Given the description of an element on the screen output the (x, y) to click on. 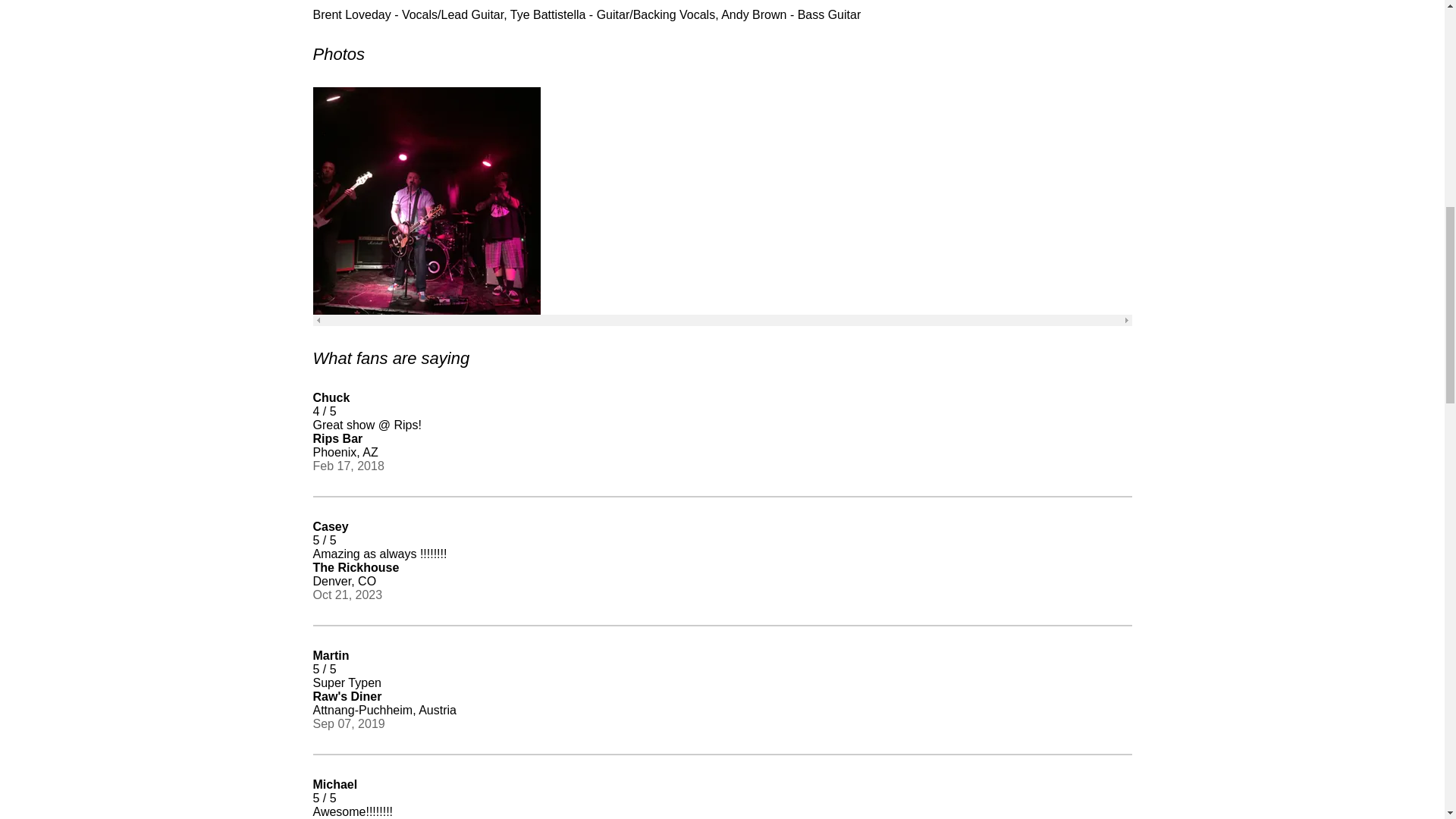
Raw's Diner (347, 696)
Phoenix, AZ (345, 452)
Denver, CO (344, 581)
Rips Bar (337, 438)
The Rickhouse (355, 567)
